Given the description of an element on the screen output the (x, y) to click on. 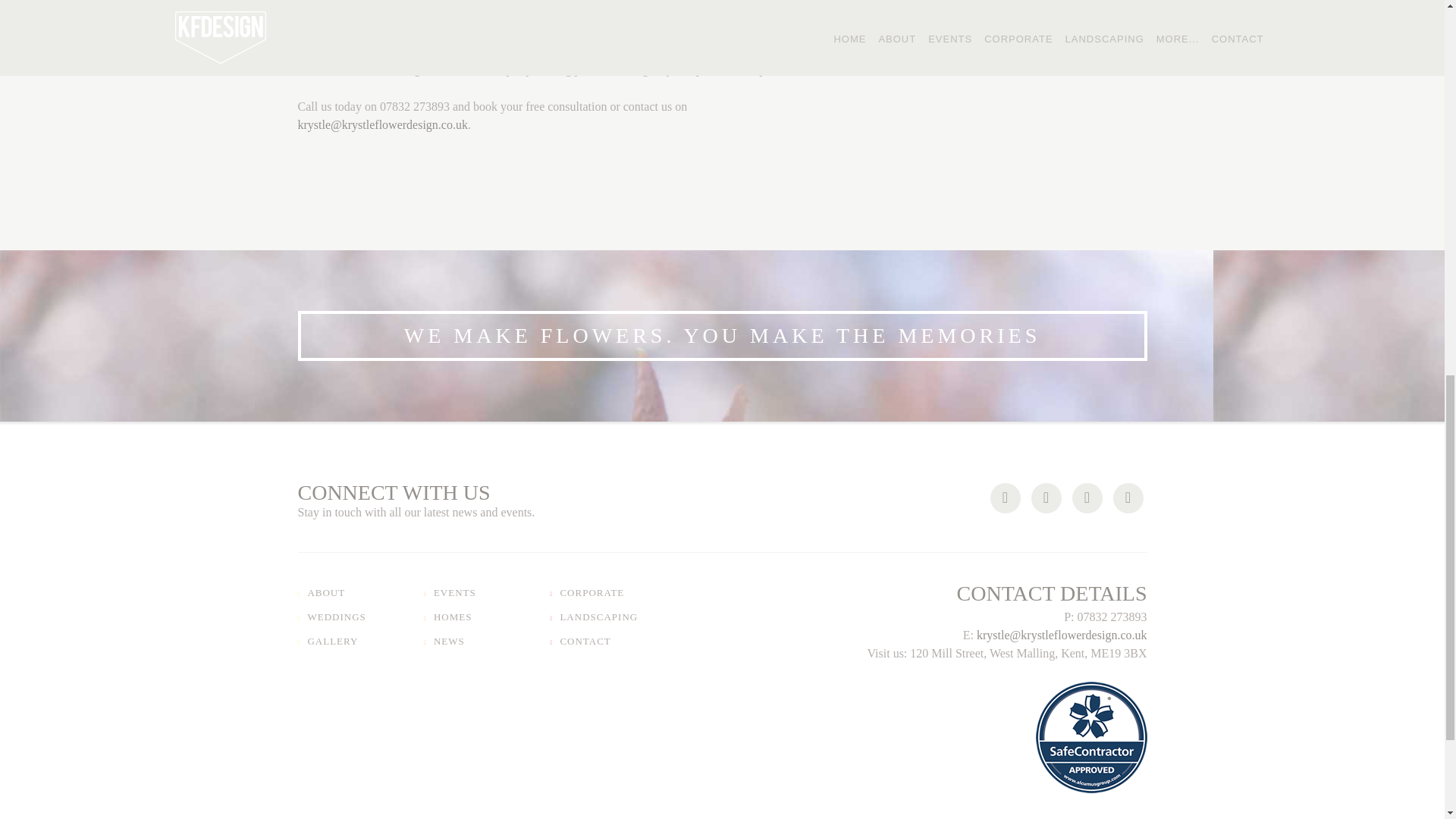
Link to Wedding Flowers Page (399, 51)
Wedding Flowers (399, 51)
CORPORATE (587, 592)
HOMES (448, 617)
WEDDINGS (332, 617)
ABOUT (322, 592)
LANDSCAPING (594, 617)
NEWS (445, 641)
CONTACT (580, 641)
EVENTS (451, 592)
